Given the description of an element on the screen output the (x, y) to click on. 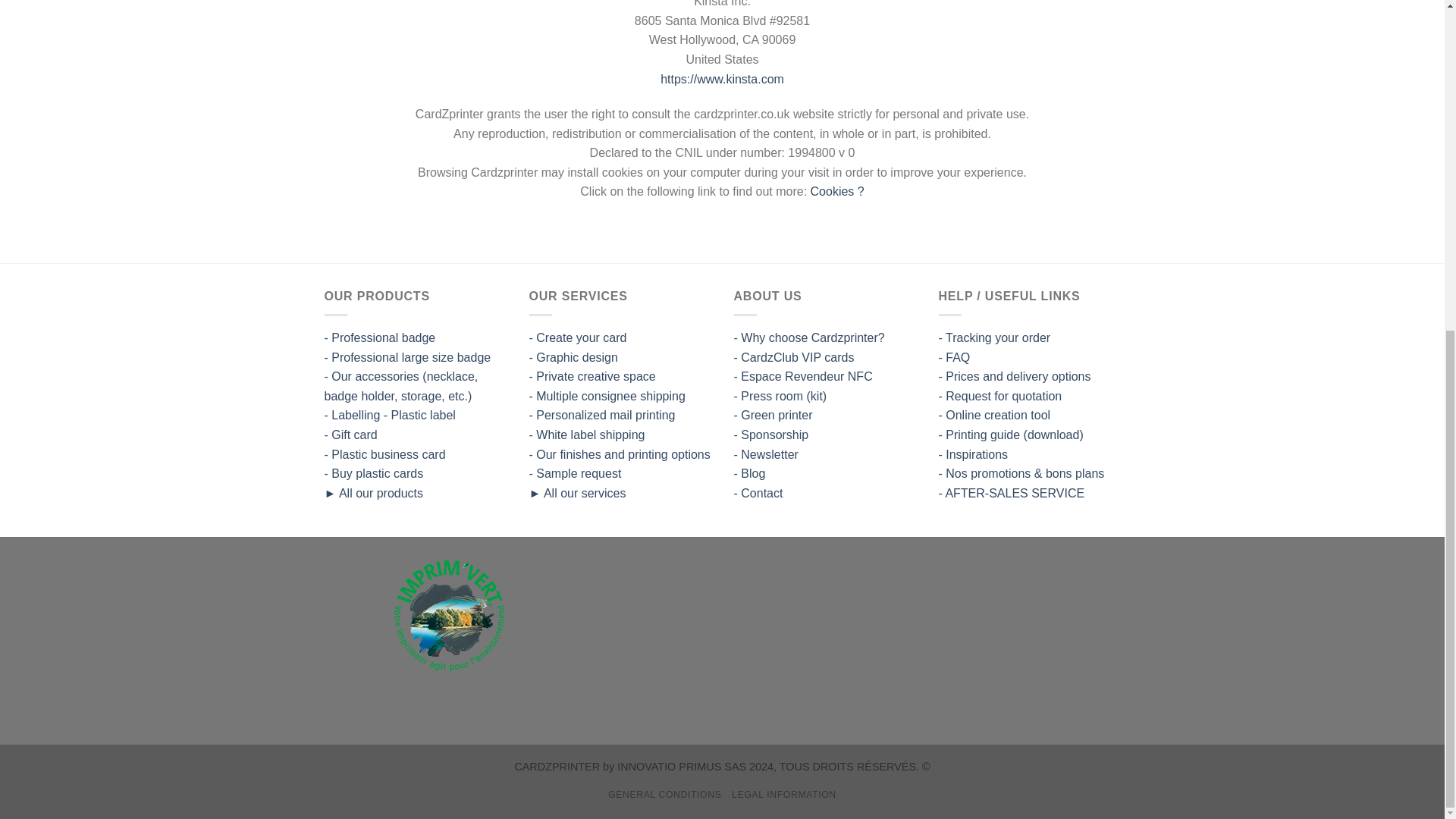
- Plastic business card (384, 453)
- Gift card (350, 434)
- Professional badge (379, 337)
- Labelling - Plastic label (389, 414)
- Professional large size badge (408, 357)
- Buy plastic cards (373, 472)
Cookies ? (837, 191)
